Given the description of an element on the screen output the (x, y) to click on. 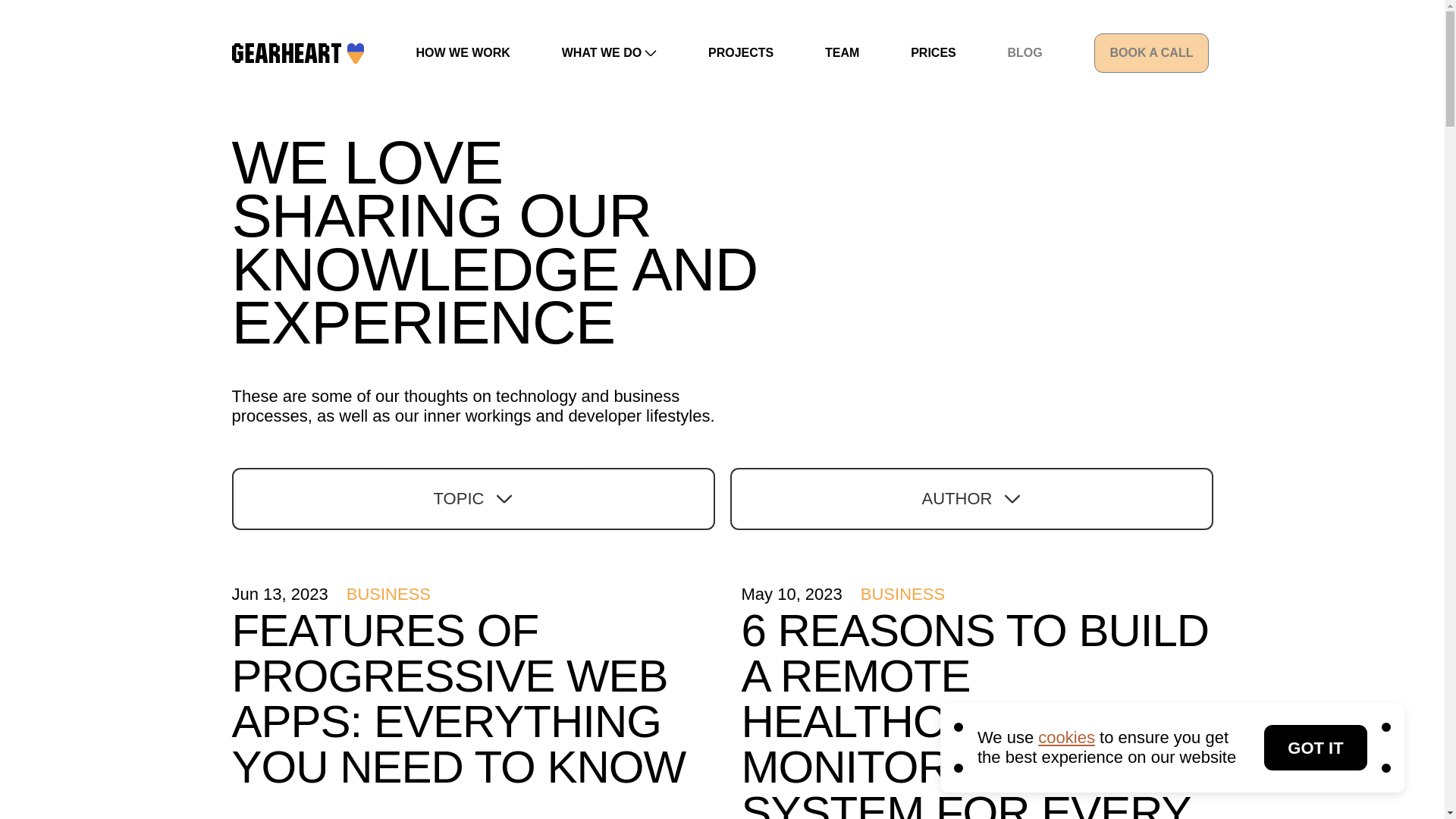
TEAM (842, 52)
WHAT WE DO (609, 52)
BOOK A CALL (1151, 52)
cookies (1066, 737)
AUTHOR (970, 498)
TOPIC (472, 498)
BLOG (1024, 52)
PROJECTS (740, 52)
GOT IT (1315, 747)
HOW WE WORK (461, 52)
PRICES (933, 52)
